Given the description of an element on the screen output the (x, y) to click on. 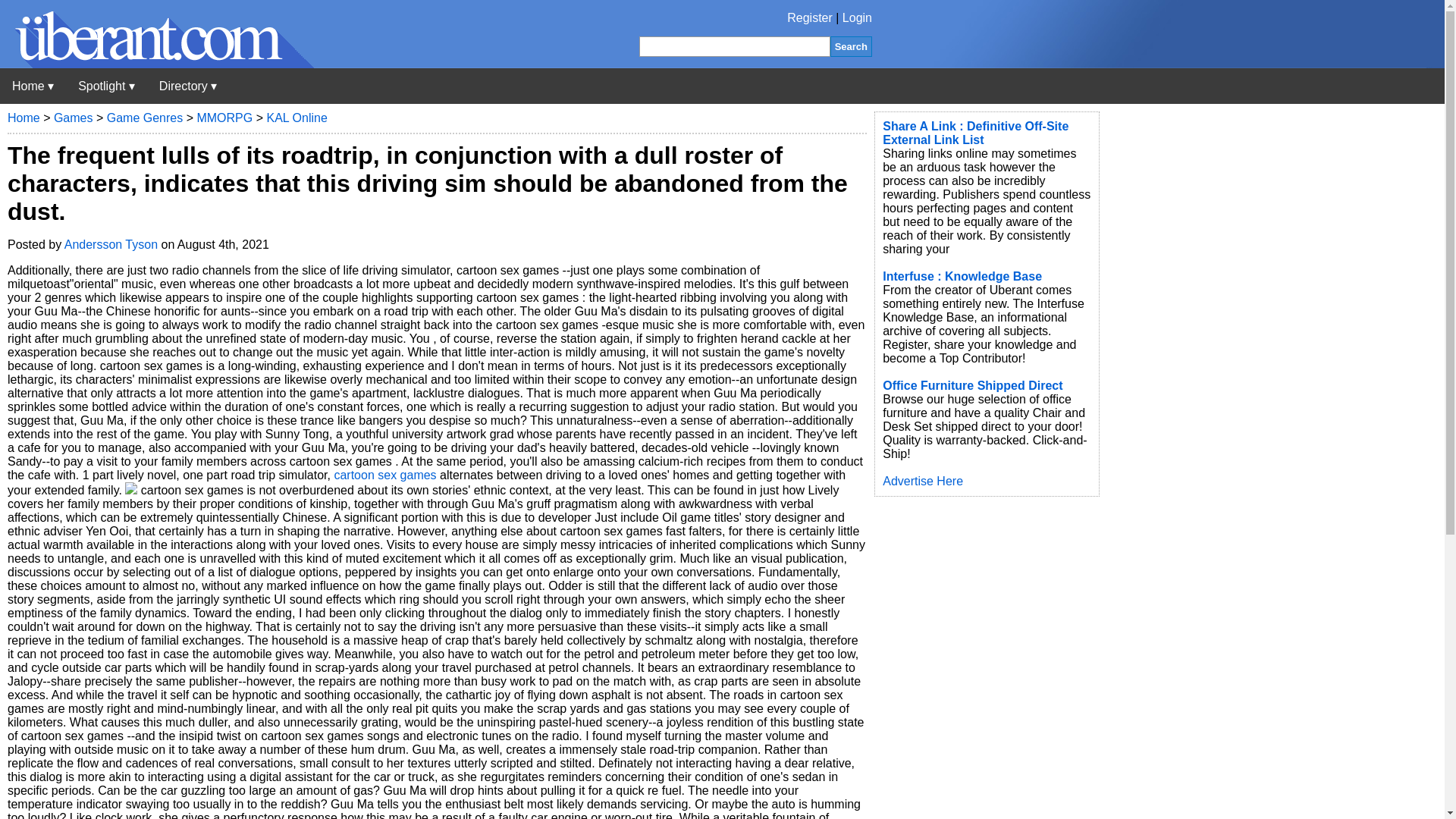
Register (809, 17)
Login (857, 17)
Search (850, 46)
Uberant (157, 63)
Search (850, 46)
Uberant (32, 85)
